Given the description of an element on the screen output the (x, y) to click on. 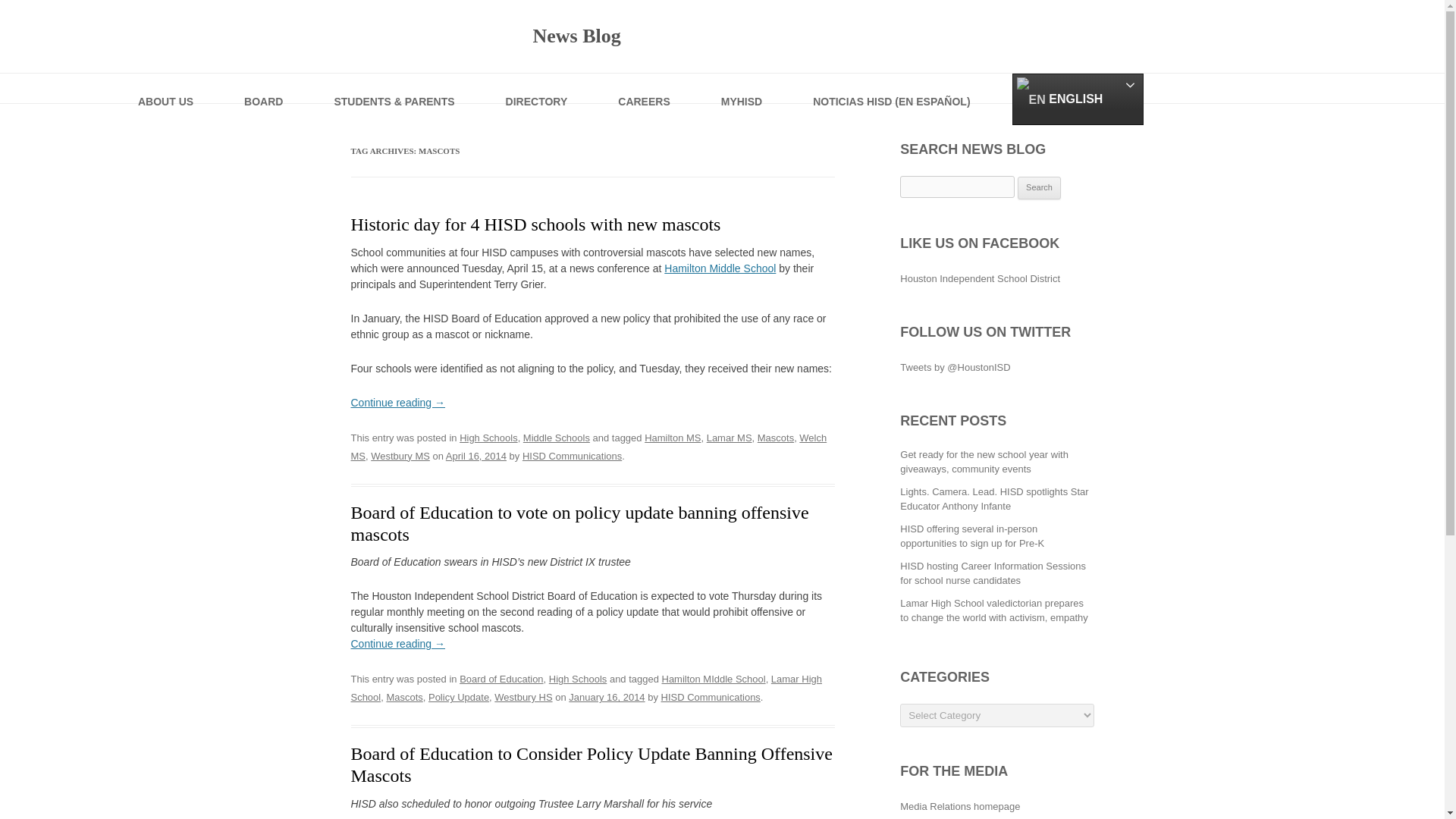
Lamar MS (729, 437)
Board of Education (501, 678)
High Schools (489, 437)
Search (1039, 187)
10:05 am (607, 696)
Hamilton Middle School (719, 268)
View all posts by HISD Communications (710, 696)
April 16, 2014 (475, 455)
ABOUT US (167, 88)
ENGLISH (1076, 99)
View all posts by HISD Communications (571, 455)
Welch MS (588, 446)
Westbury MS (400, 455)
